Given the description of an element on the screen output the (x, y) to click on. 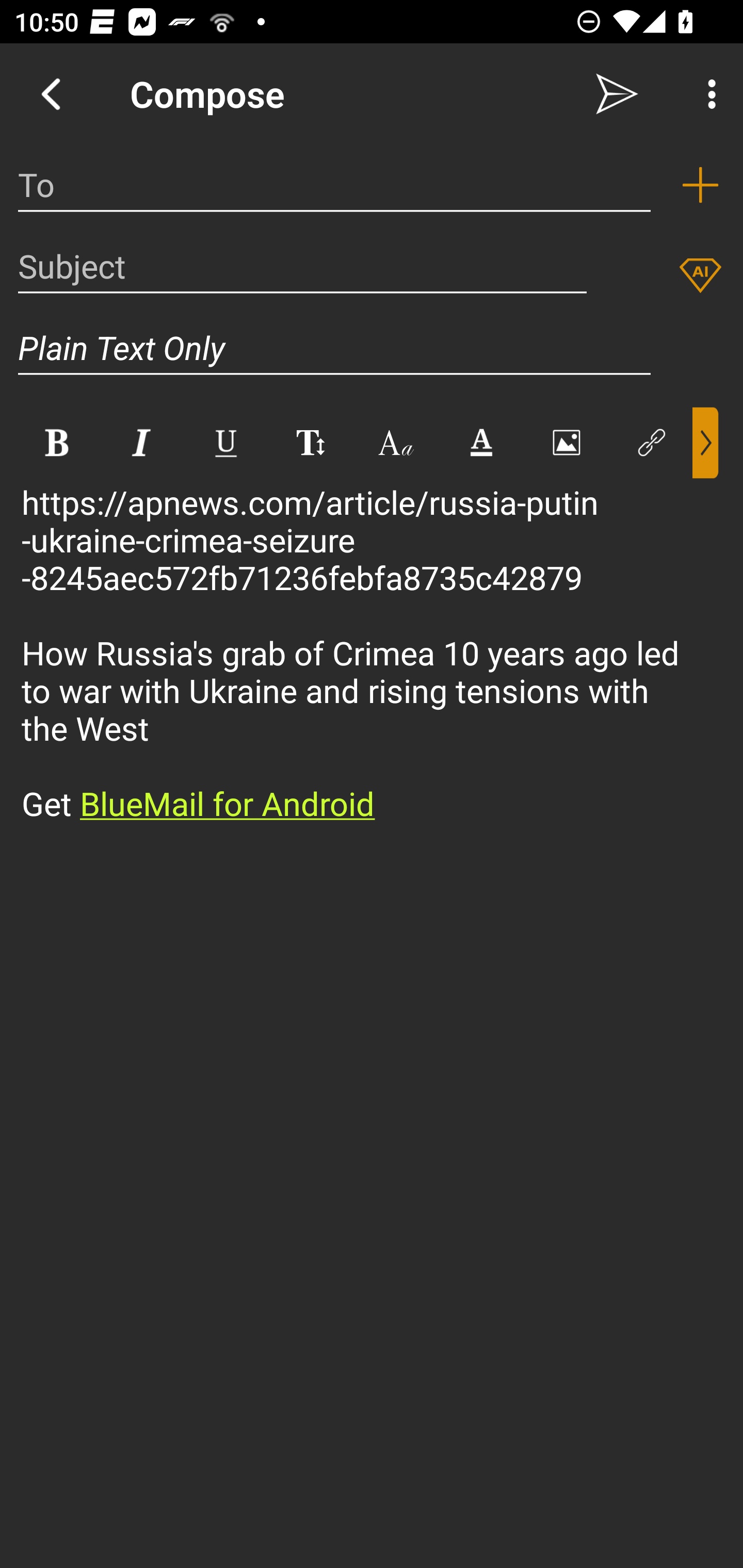
Navigate up (50, 93)
Send (616, 93)
More Options (706, 93)
To (334, 184)
Add recipient (To) (699, 184)
Subject (302, 266)
Plain Text Only (334, 347)
